Given the description of an element on the screen output the (x, y) to click on. 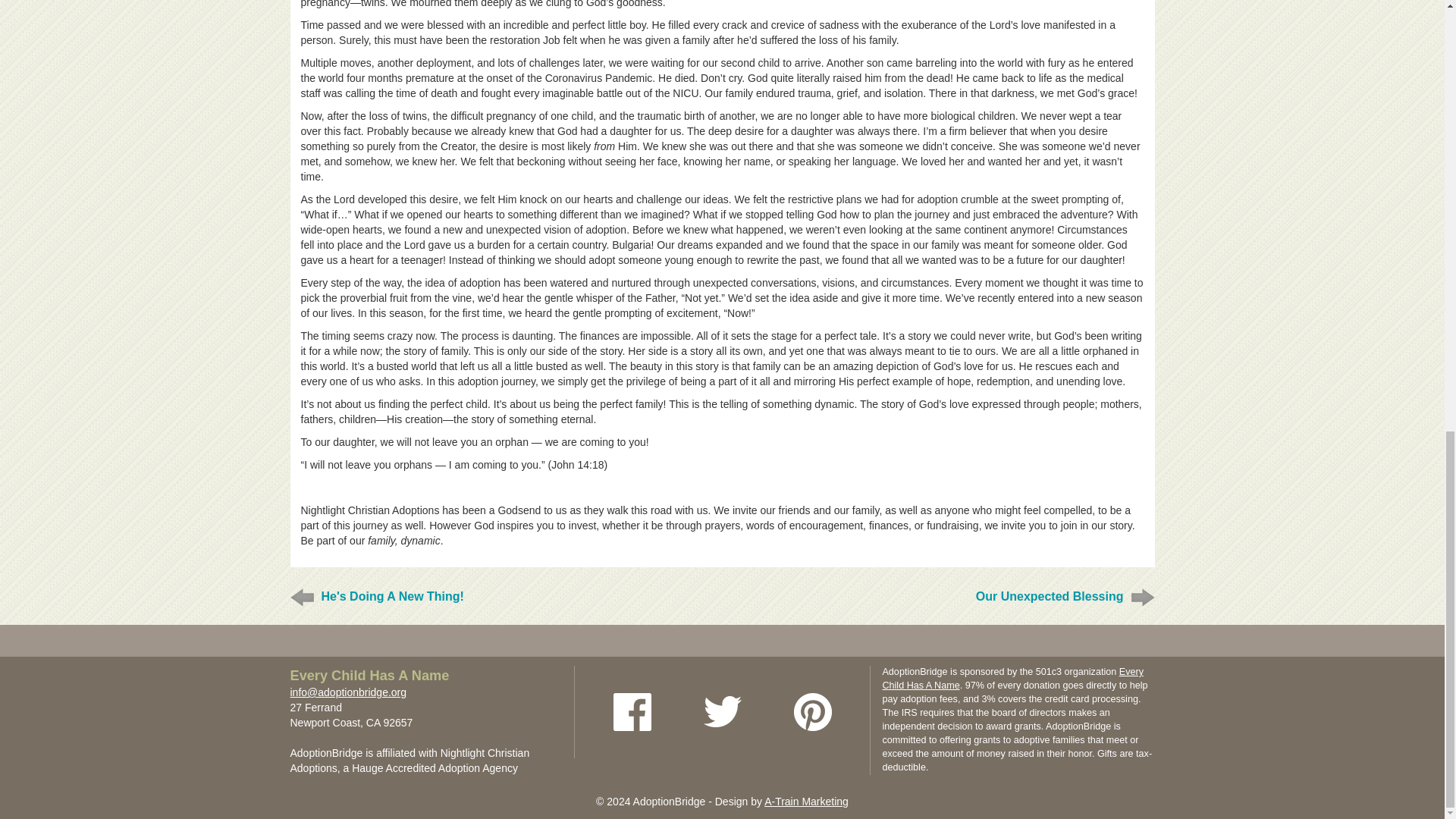
Every Child Has A Name (1012, 678)
He's Doing A New Thing! (392, 595)
A-Train Marketing (806, 801)
Every Child Has A Name (368, 676)
Our Unexpected Blessing (1049, 595)
